Given the description of an element on the screen output the (x, y) to click on. 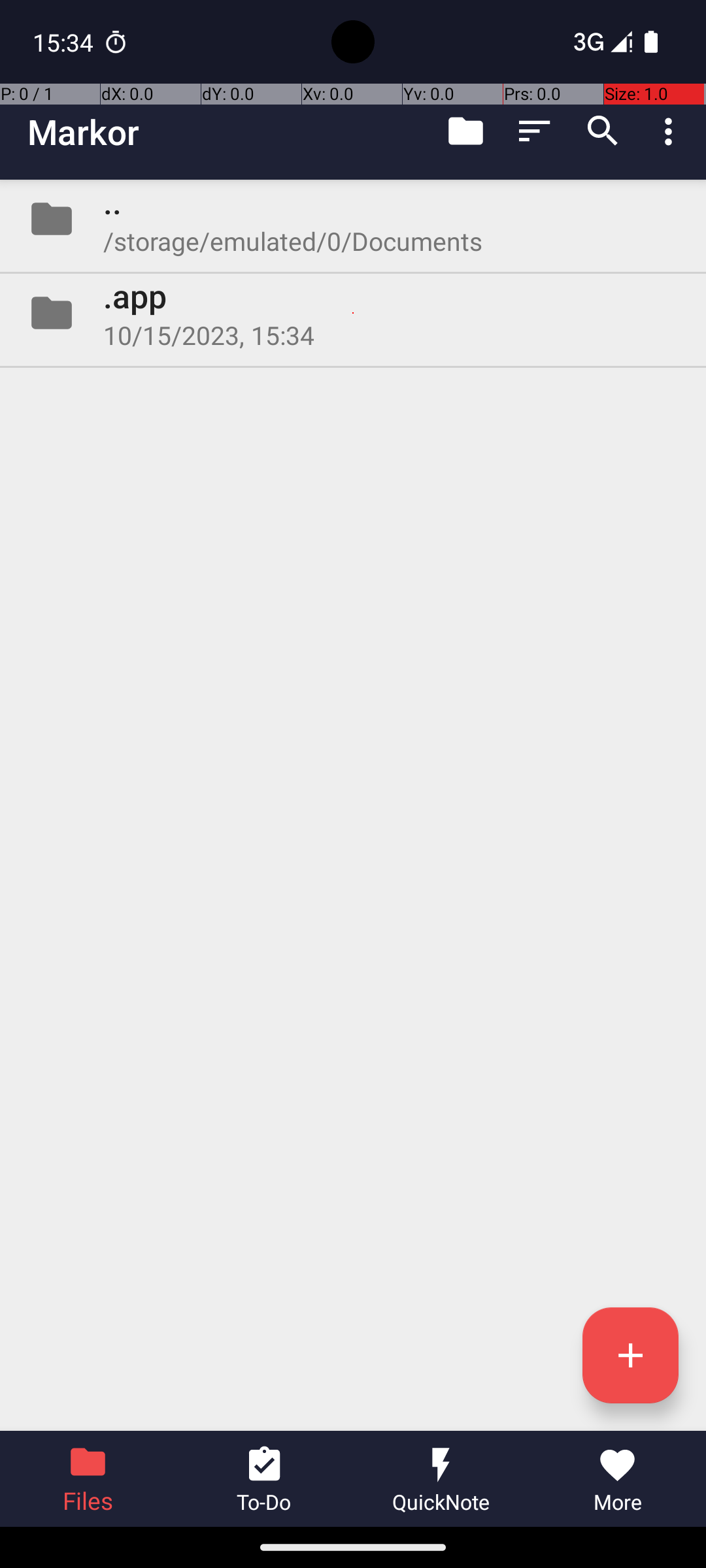
Folder .. /storage/emulated/0 Element type: android.widget.LinearLayout (353, 218)
Folder .app 10/15/2023, 15:34 Element type: android.widget.LinearLayout (353, 312)
